Given the description of an element on the screen output the (x, y) to click on. 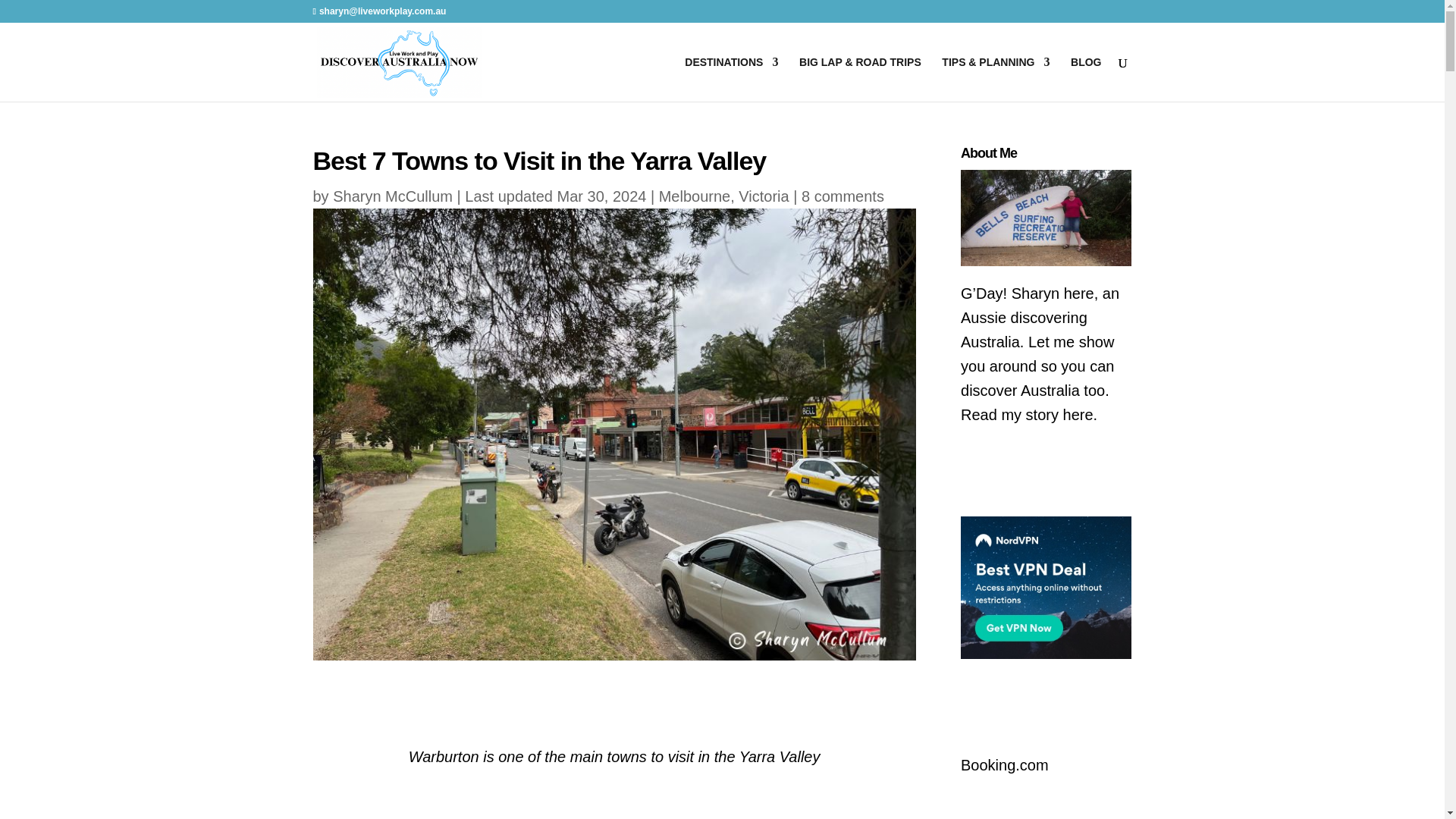
Melbourne (694, 196)
DESTINATIONS (730, 78)
Victoria (763, 196)
Sharyn McCullum (392, 196)
8 comments (842, 196)
Posts by Sharyn McCullum (392, 196)
